Given the description of an element on the screen output the (x, y) to click on. 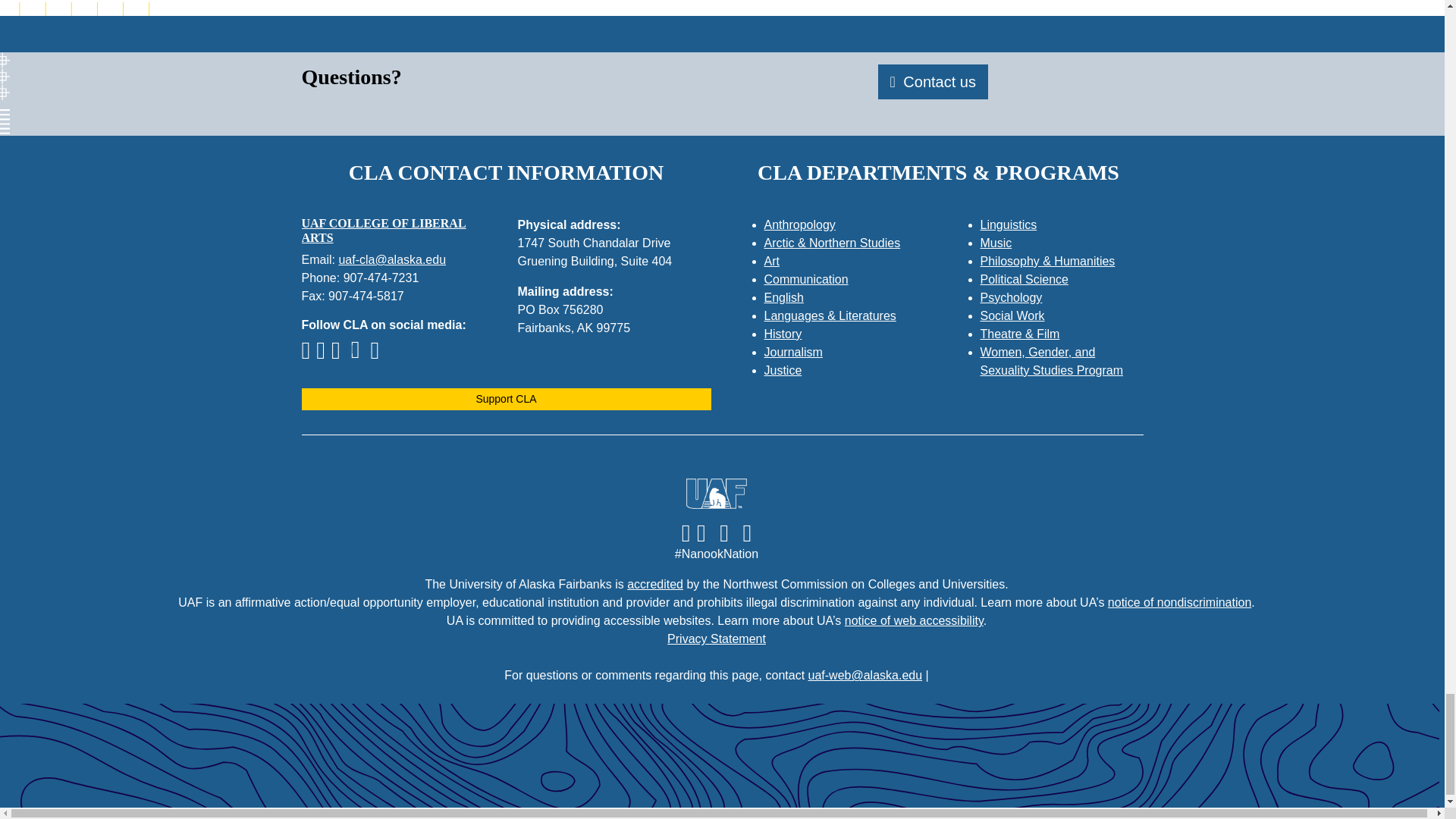
Follow UAF on Instagram (700, 532)
Art (771, 260)
Communication (806, 278)
  Contact us (932, 81)
Follow CLA on Twitter (338, 354)
Follow CLA on TikTok (358, 354)
Journalism (793, 351)
Follow CLA on Instagram (323, 354)
